Given the description of an element on the screen output the (x, y) to click on. 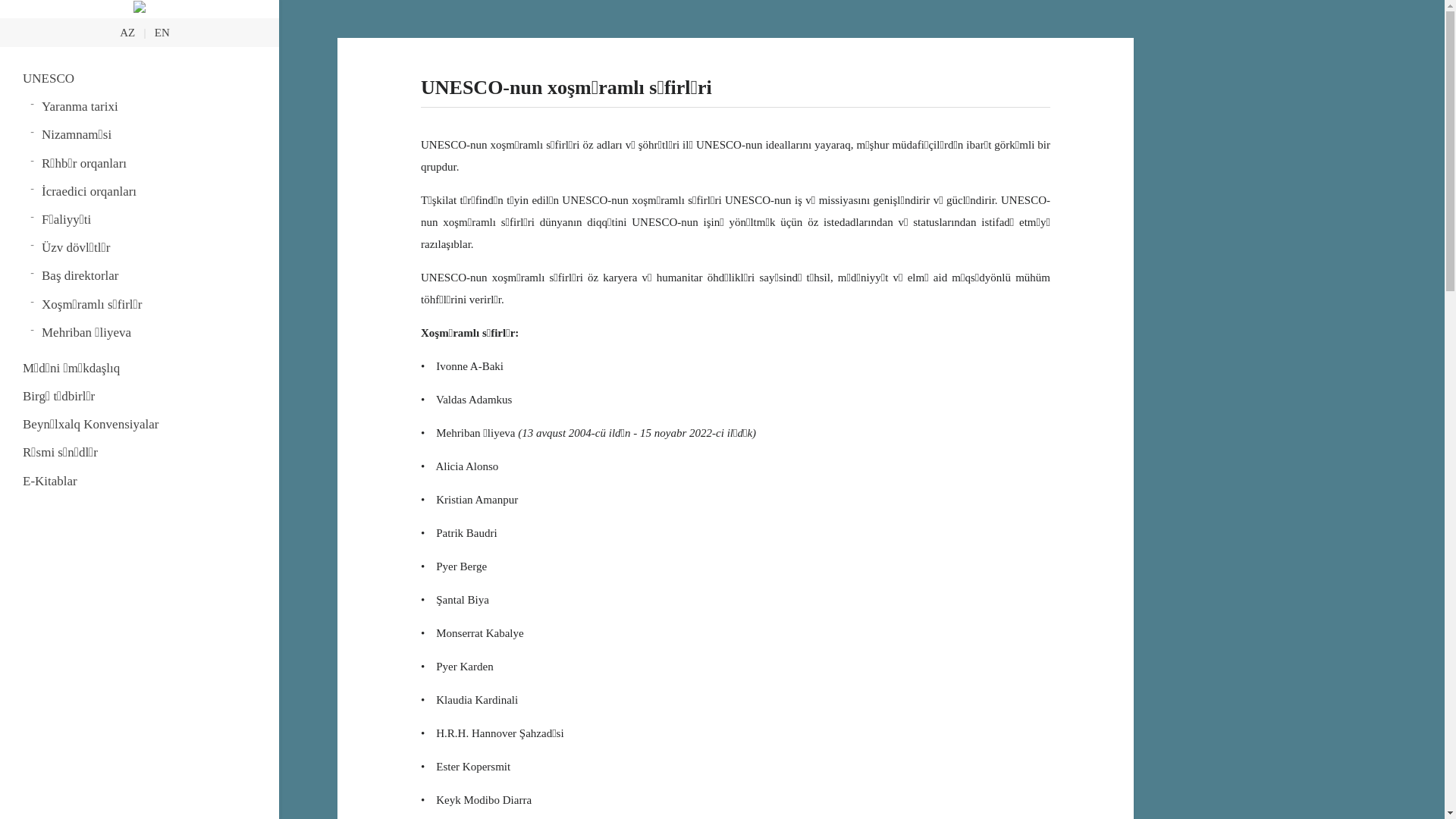
UNESCO Element type: text (139, 78)
AZ Element type: text (126, 32)
E-Kitablar Element type: text (139, 481)
EN Element type: text (161, 32)
Yaranma tarixi Element type: text (148, 106)
